Given the description of an element on the screen output the (x, y) to click on. 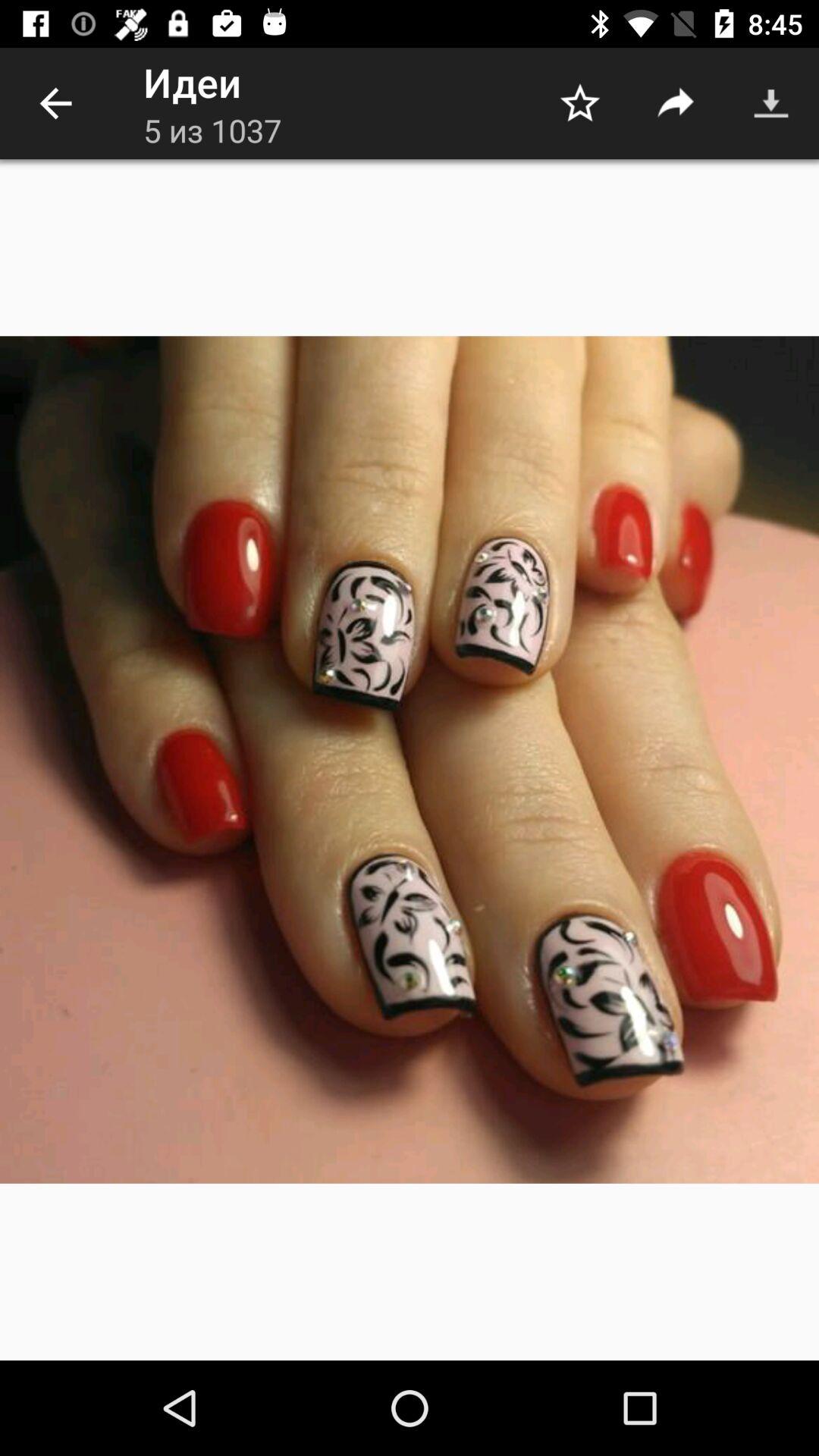
choose the item at the center (409, 759)
